Given the description of an element on the screen output the (x, y) to click on. 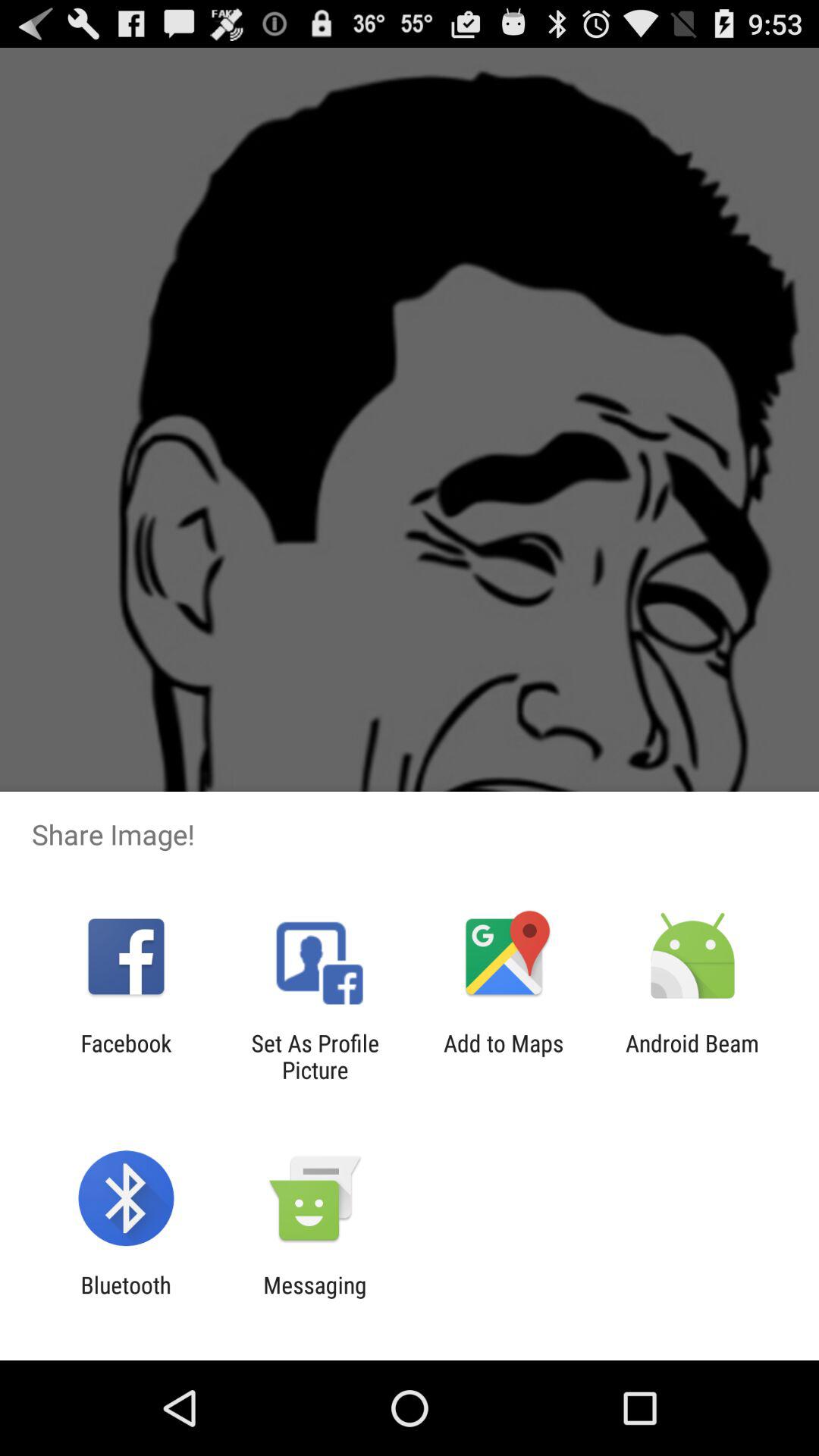
swipe until the messaging item (314, 1298)
